Given the description of an element on the screen output the (x, y) to click on. 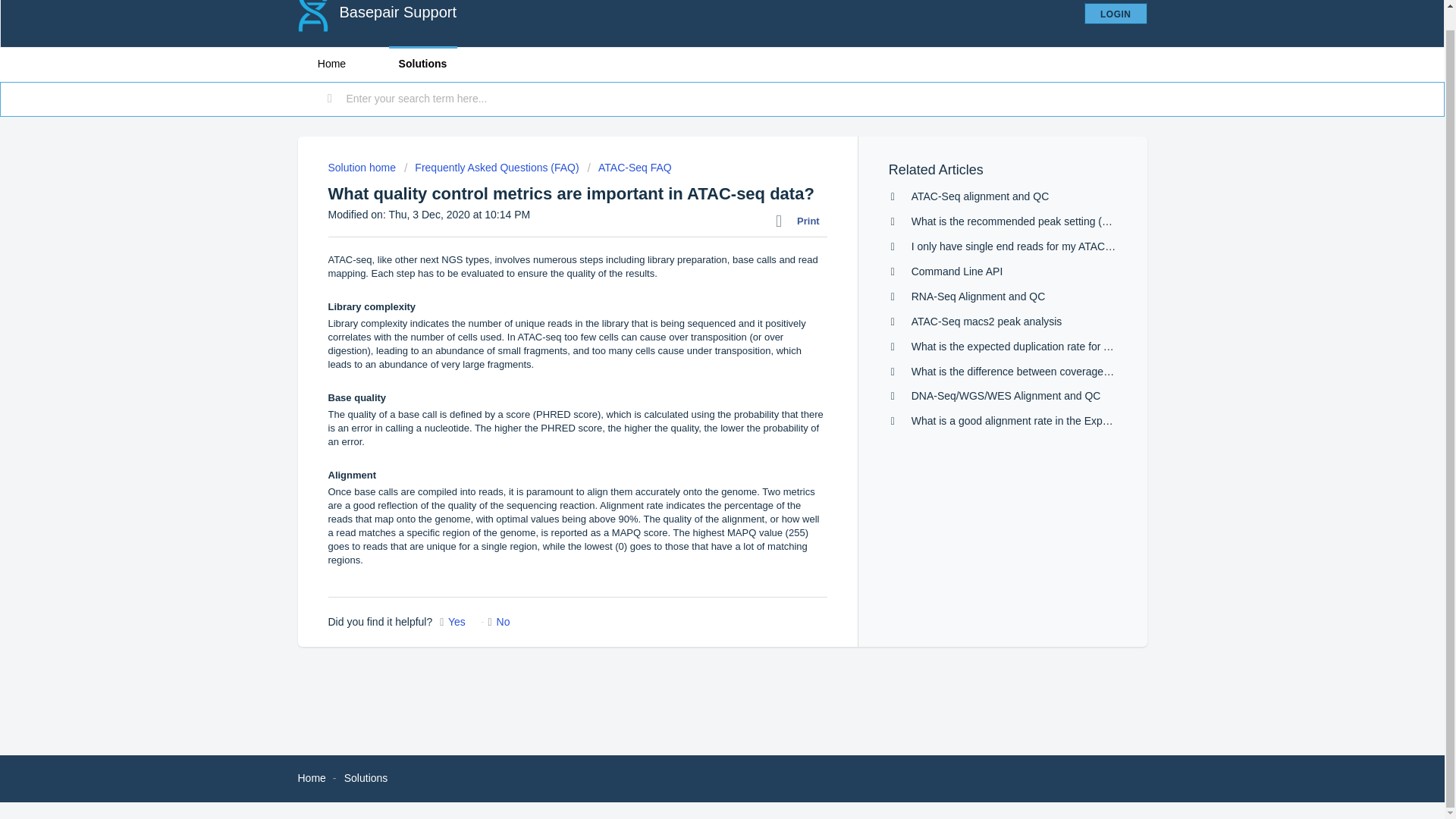
LOGIN (1115, 13)
Solutions (422, 63)
Home (310, 777)
Home (331, 63)
Print this Article (801, 220)
Solutions (365, 777)
What is the expected duplication rate for ATAC-seq data? (1045, 346)
Print (801, 220)
RNA-Seq Alignment and QC (978, 296)
